Given the description of an element on the screen output the (x, y) to click on. 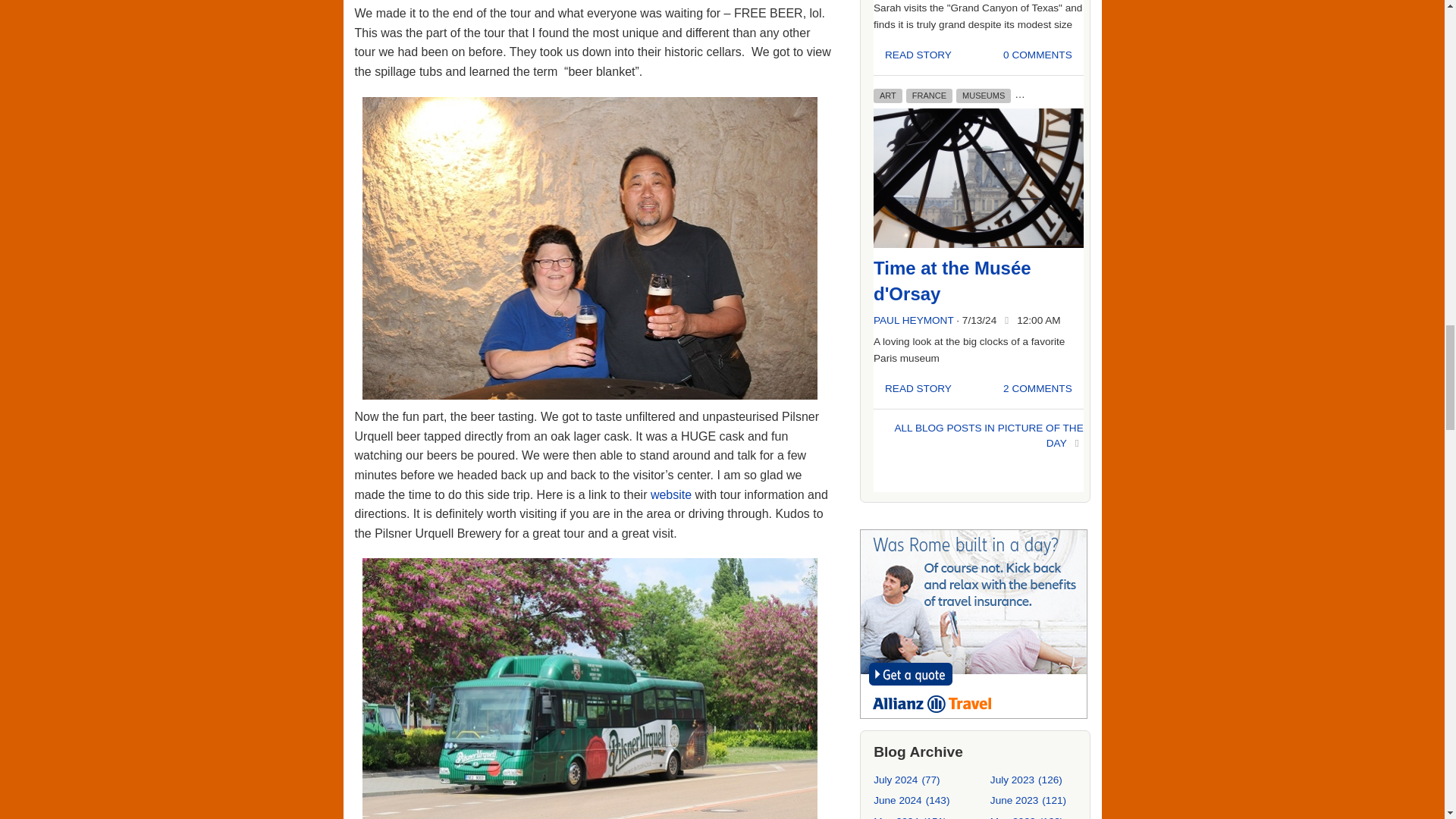
Pilsner - Bus (590, 712)
Pilsner - Bus (589, 688)
Pilsner - US (590, 250)
